Given the description of an element on the screen output the (x, y) to click on. 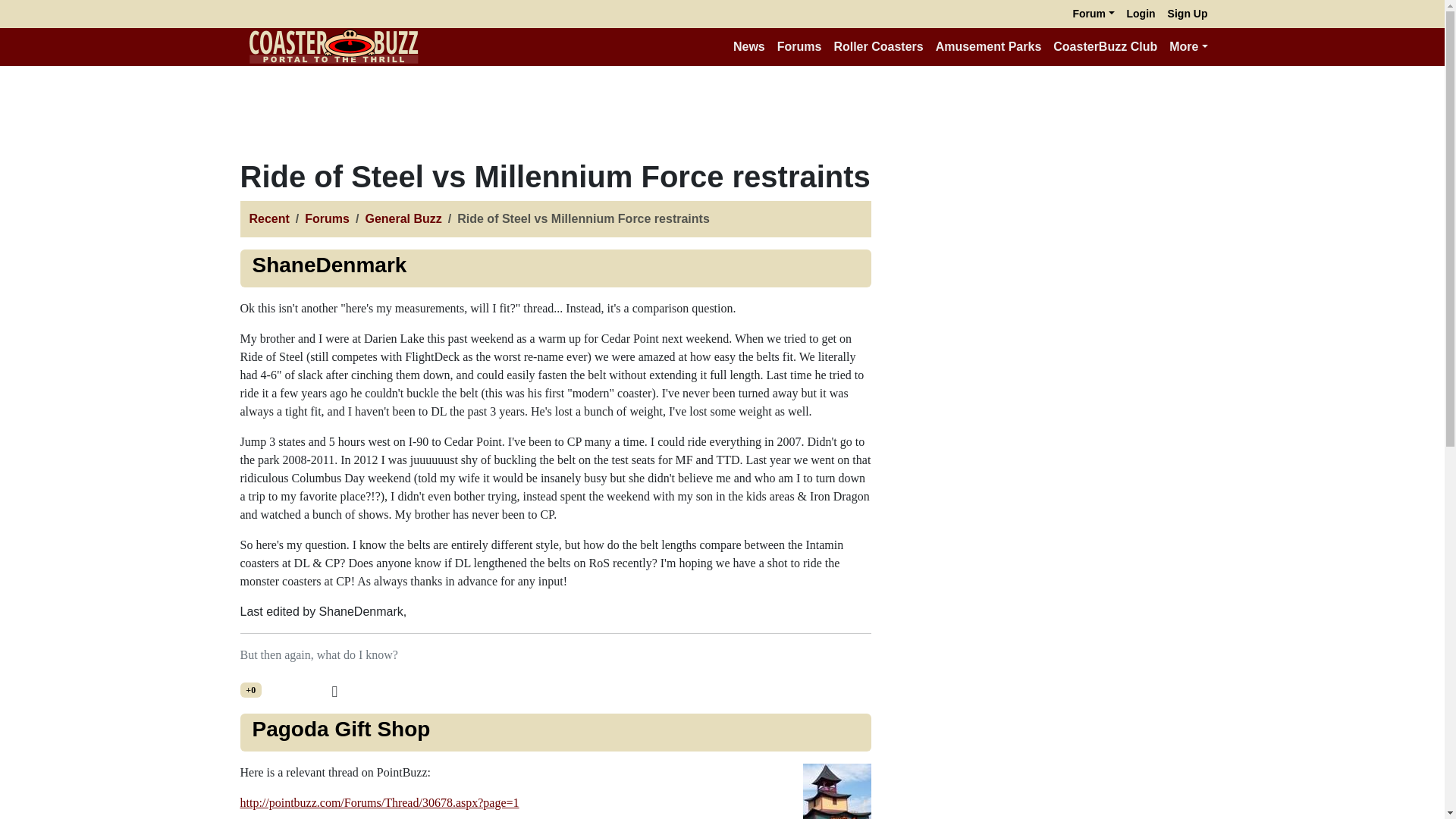
Recent (268, 218)
Forums (326, 218)
General Buzz (403, 218)
Forum (1092, 13)
CoasterBuzz Club (1104, 46)
More (1187, 46)
Login (1141, 13)
News (748, 46)
Forums (799, 46)
Roller Coasters (877, 46)
Amusement Parks (989, 46)
Sign Up (1187, 13)
